Given the description of an element on the screen output the (x, y) to click on. 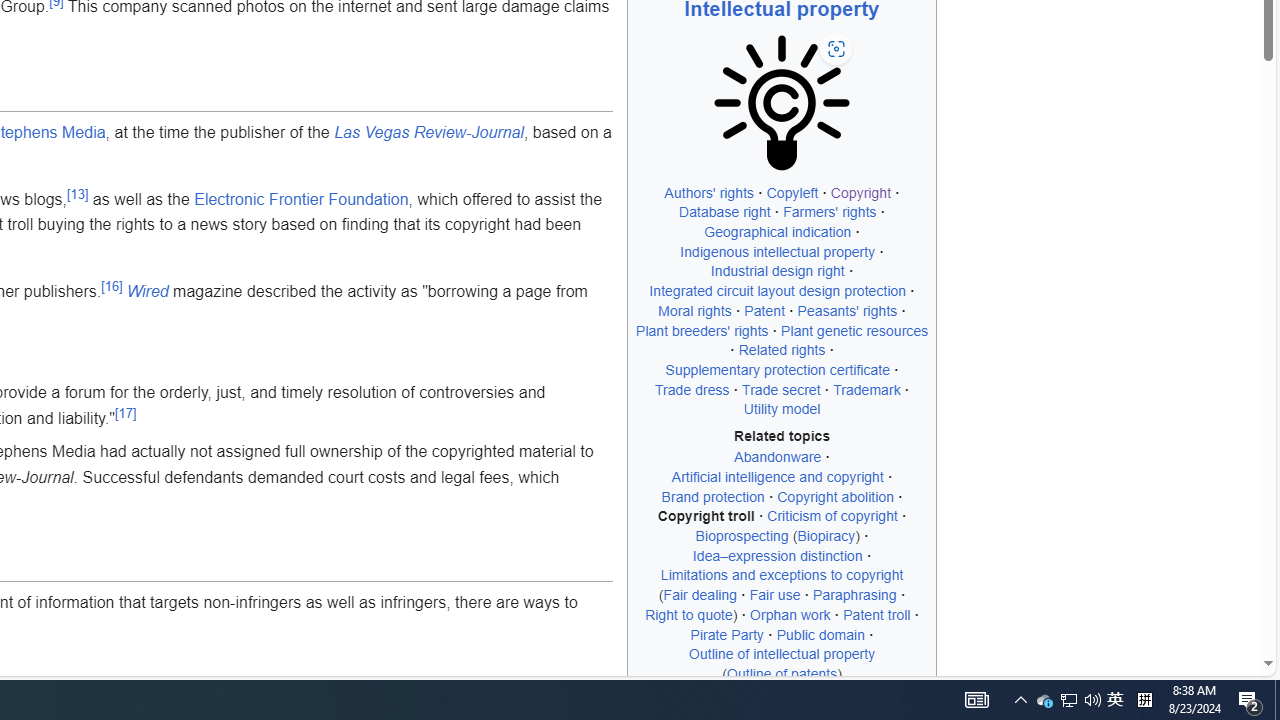
Moral rights (694, 309)
Class: mw-file-description (781, 102)
Related rights (781, 350)
Utility model (781, 409)
Copyleft (792, 192)
Public domain (820, 633)
Limitations and exceptions to copyright (781, 575)
Fair use (774, 595)
Artificial intelligence and copyright (777, 476)
